Given the description of an element on the screen output the (x, y) to click on. 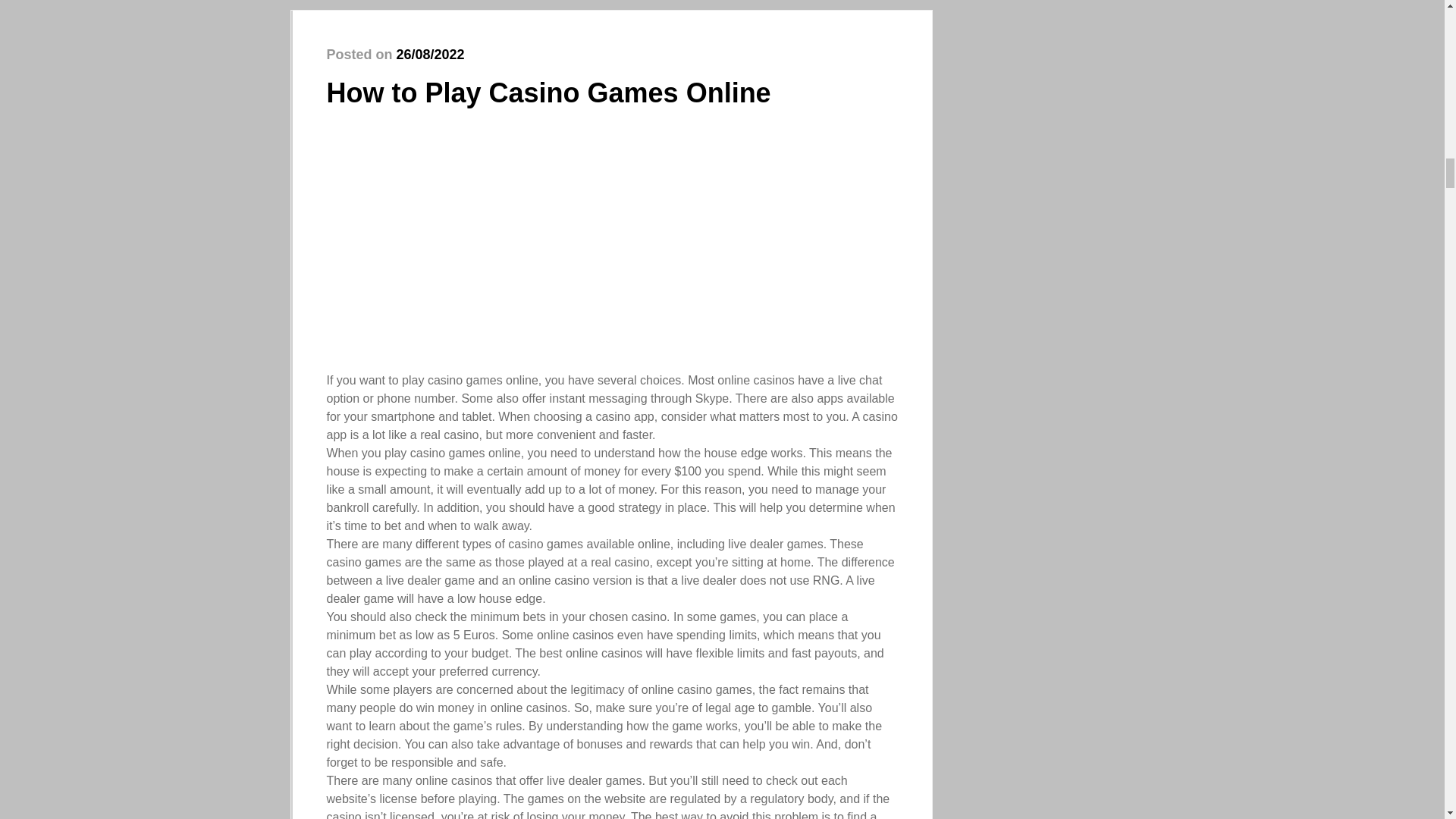
How to Play Casino Games Online (548, 92)
